Given the description of an element on the screen output the (x, y) to click on. 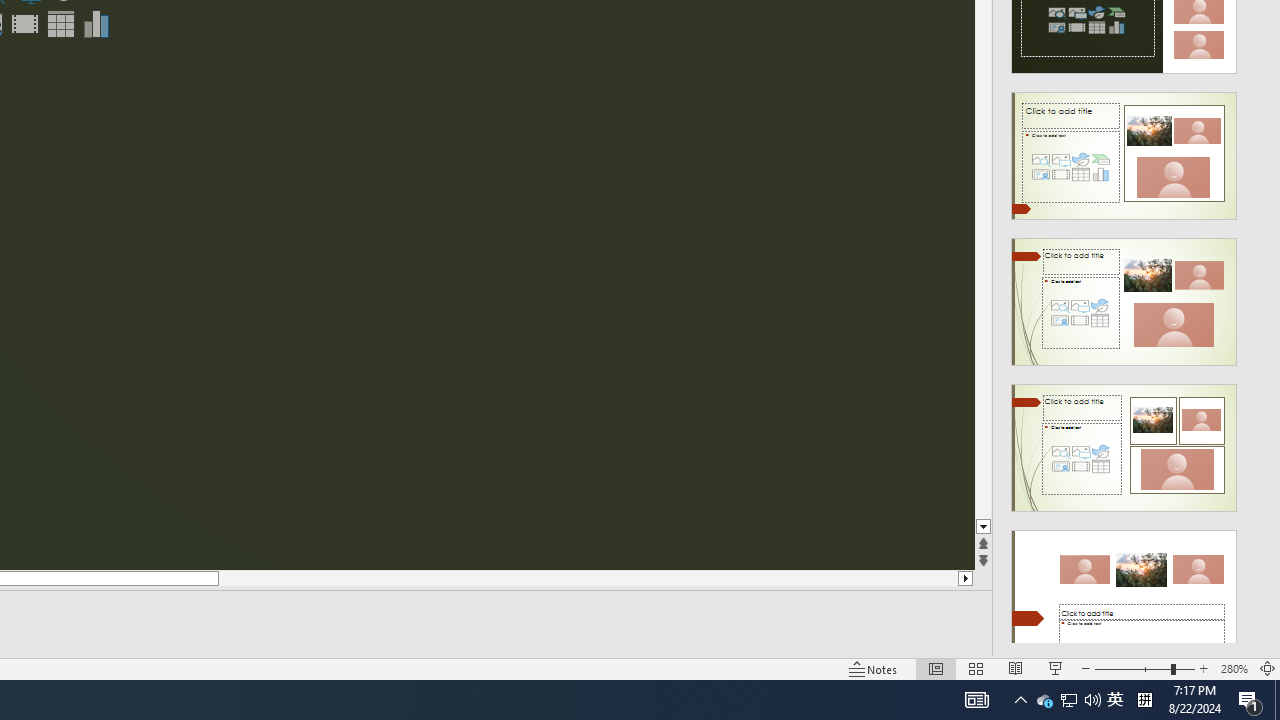
Zoom 280% (1234, 668)
Insert Video (24, 23)
Insert Table (60, 23)
